Given the description of an element on the screen output the (x, y) to click on. 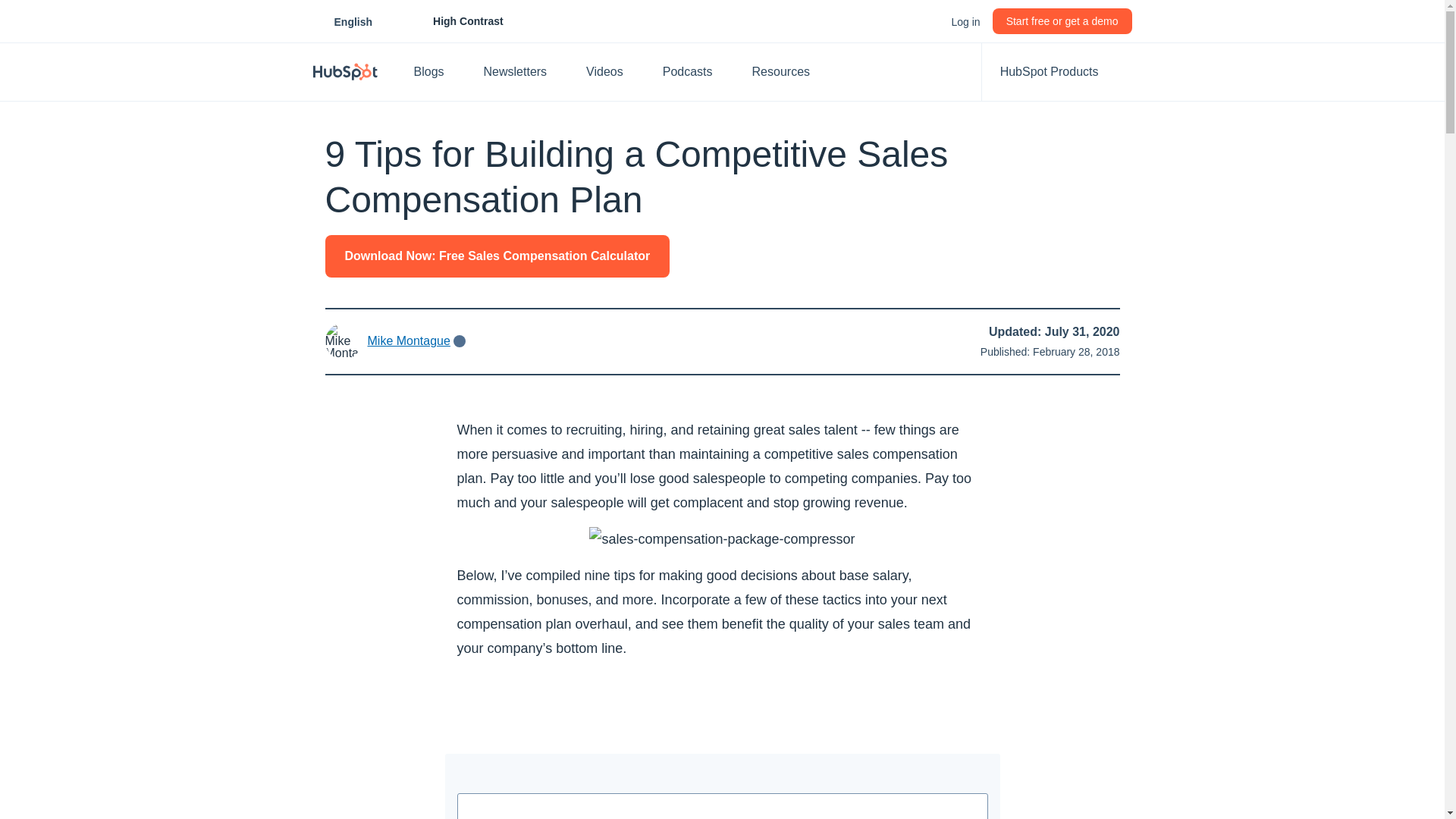
Newsletters (523, 71)
Log in (964, 21)
Start free or get a demo (1062, 21)
Videos (611, 71)
High Contrast (450, 21)
Blogs (353, 21)
